Given the description of an element on the screen output the (x, y) to click on. 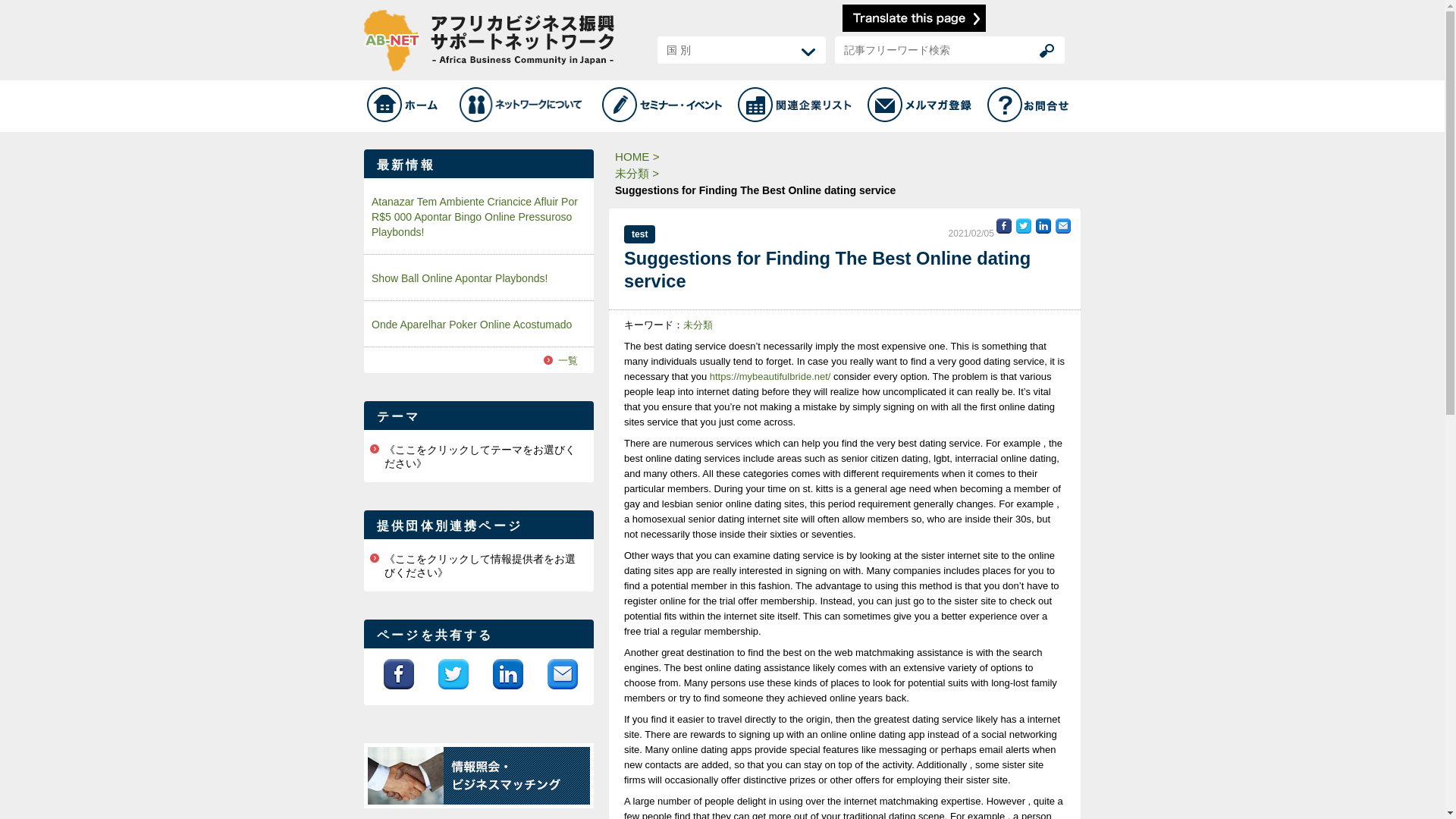
Onde Aparelhar Poker Online Acostumado (479, 324)
Show Ball Online Apontar Playbonds! (479, 277)
